Given the description of an element on the screen output the (x, y) to click on. 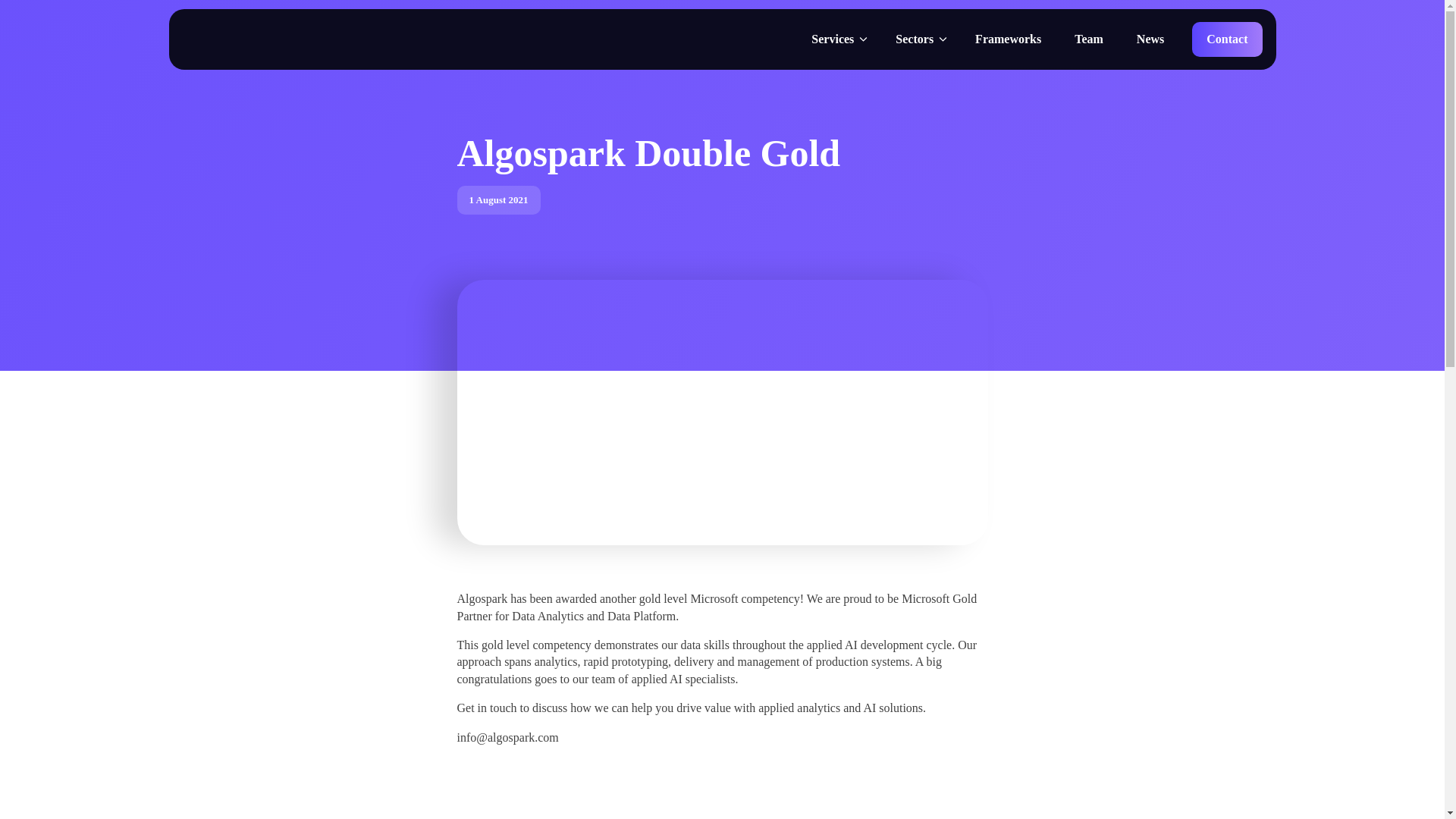
Services (839, 39)
Frameworks (1007, 39)
News (1149, 39)
Sectors (921, 39)
Team (1088, 39)
Contact (1227, 39)
